Given the description of an element on the screen output the (x, y) to click on. 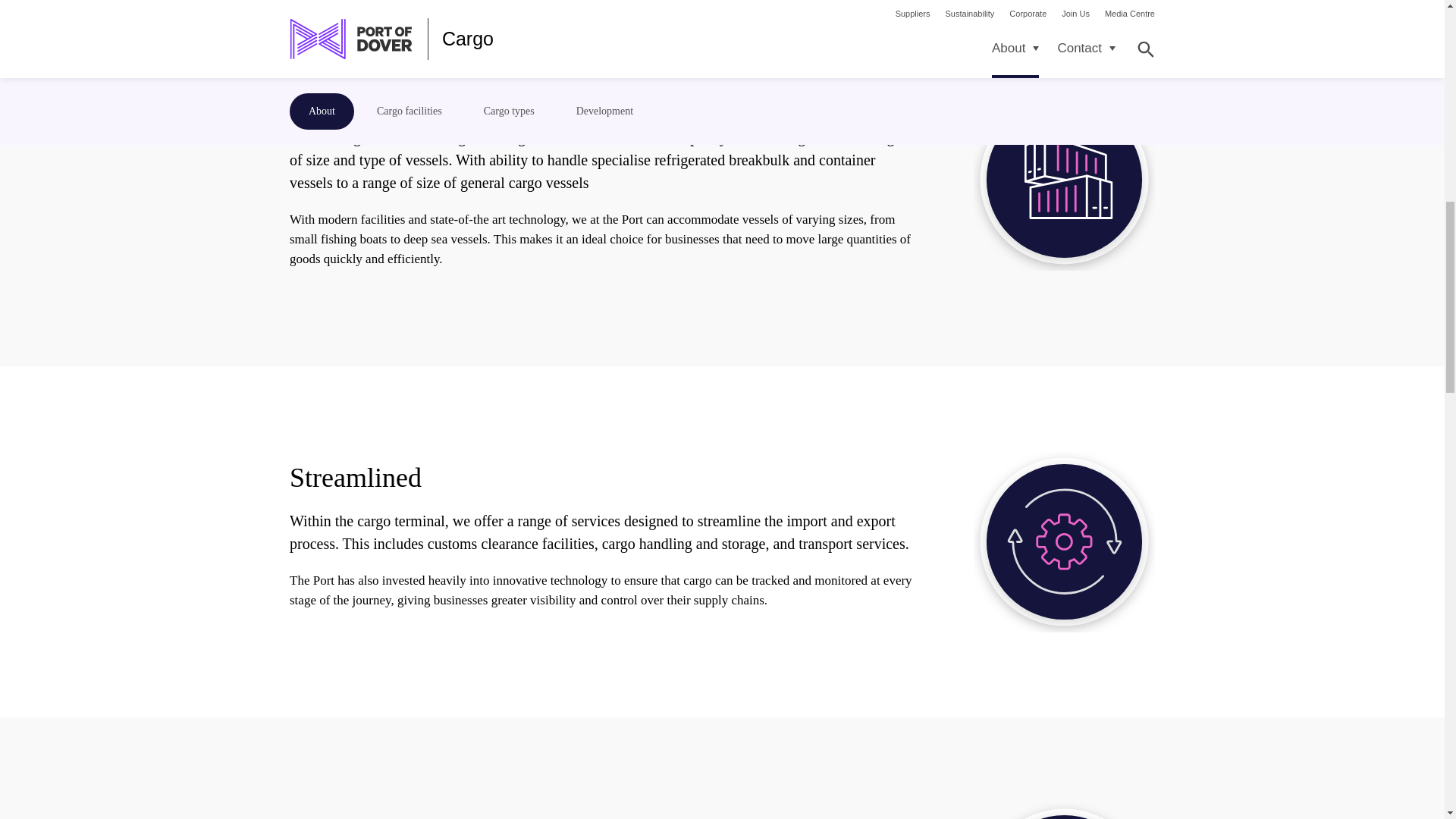
Cargo - About 6 (1064, 541)
Cargo - About 5 (1064, 179)
Cargo - About 7 (1064, 810)
